Given the description of an element on the screen output the (x, y) to click on. 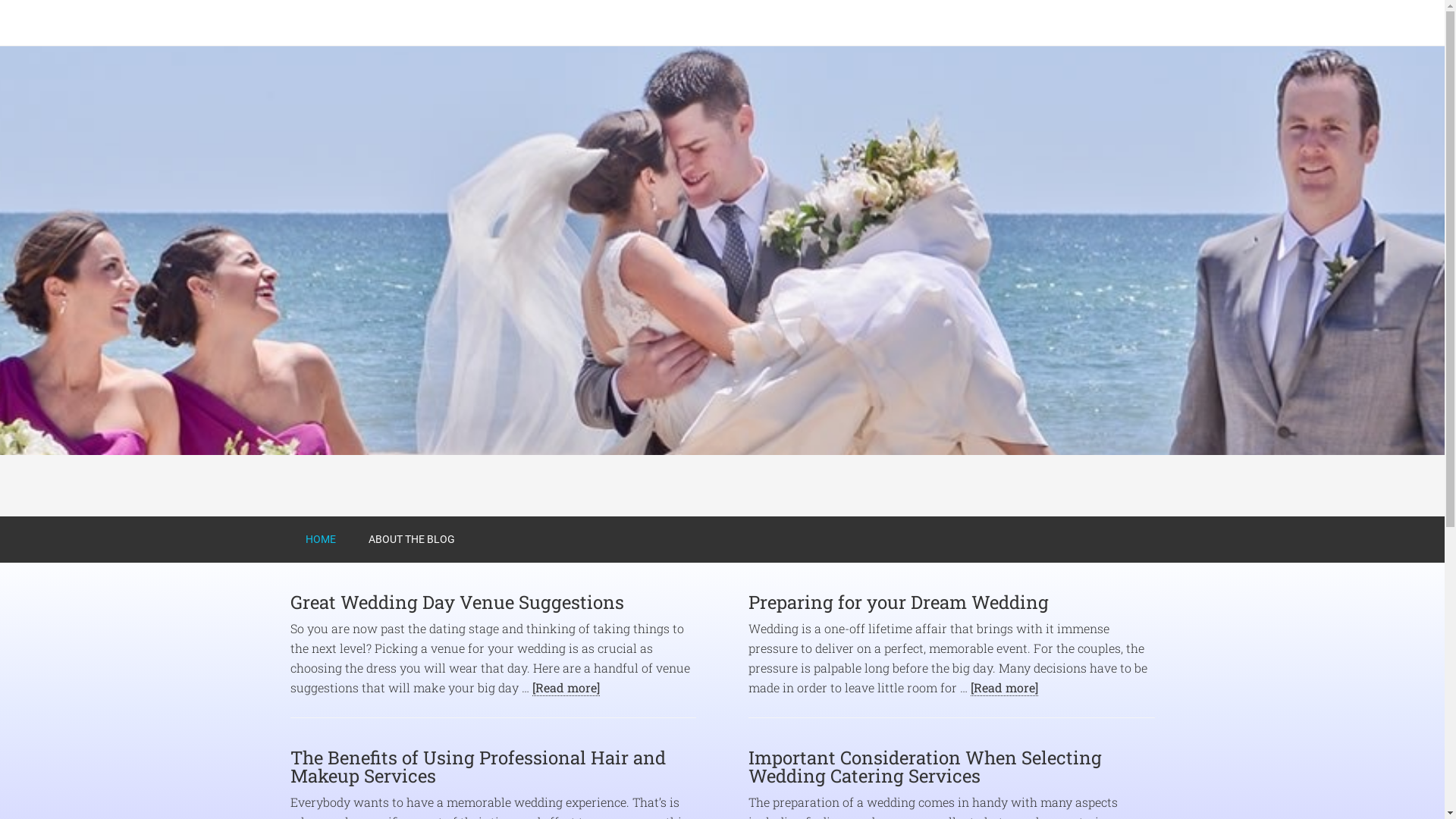
ITSMYWEDDING.COM.AU Element type: text (410, 22)
[Read more] Element type: text (1004, 687)
ABOUT THE BLOG Element type: text (411, 539)
Preparing for your Dream Wedding Element type: text (898, 601)
[Read more] Element type: text (565, 687)
The Benefits of Using Professional Hair and Makeup Services Element type: text (477, 766)
HOME Element type: text (319, 539)
Great Wedding Day Venue Suggestions Element type: text (456, 601)
